Given the description of an element on the screen output the (x, y) to click on. 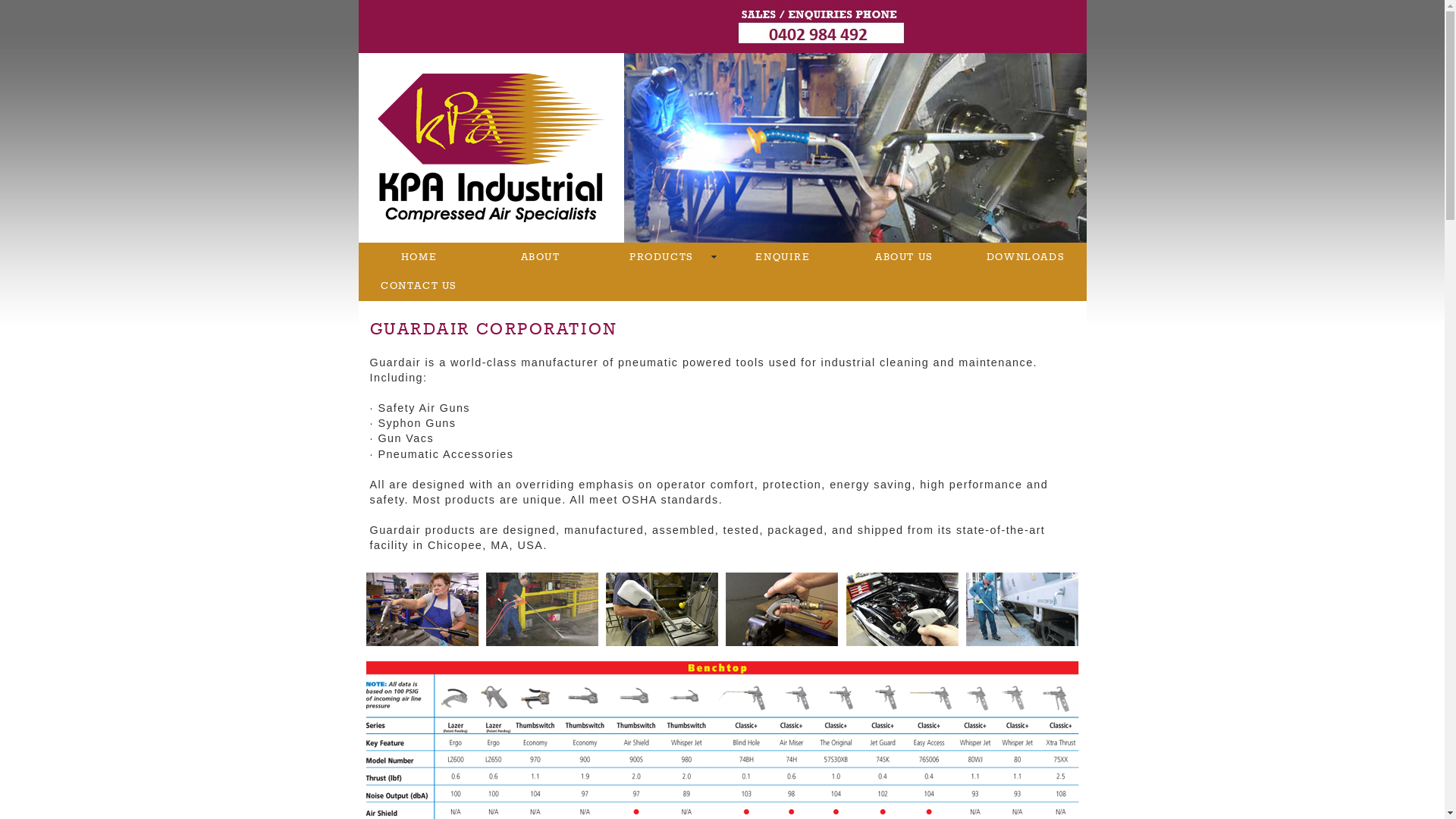
ENQUIRE Element type: text (782, 256)
ABOUT US Element type: text (903, 256)
HOME Element type: text (418, 256)
ABOUT Element type: text (539, 256)
CONTACT US Element type: text (418, 285)
DOWNLOADS Element type: text (1024, 256)
PRODUCTS Element type: text (660, 256)
